Given the description of an element on the screen output the (x, y) to click on. 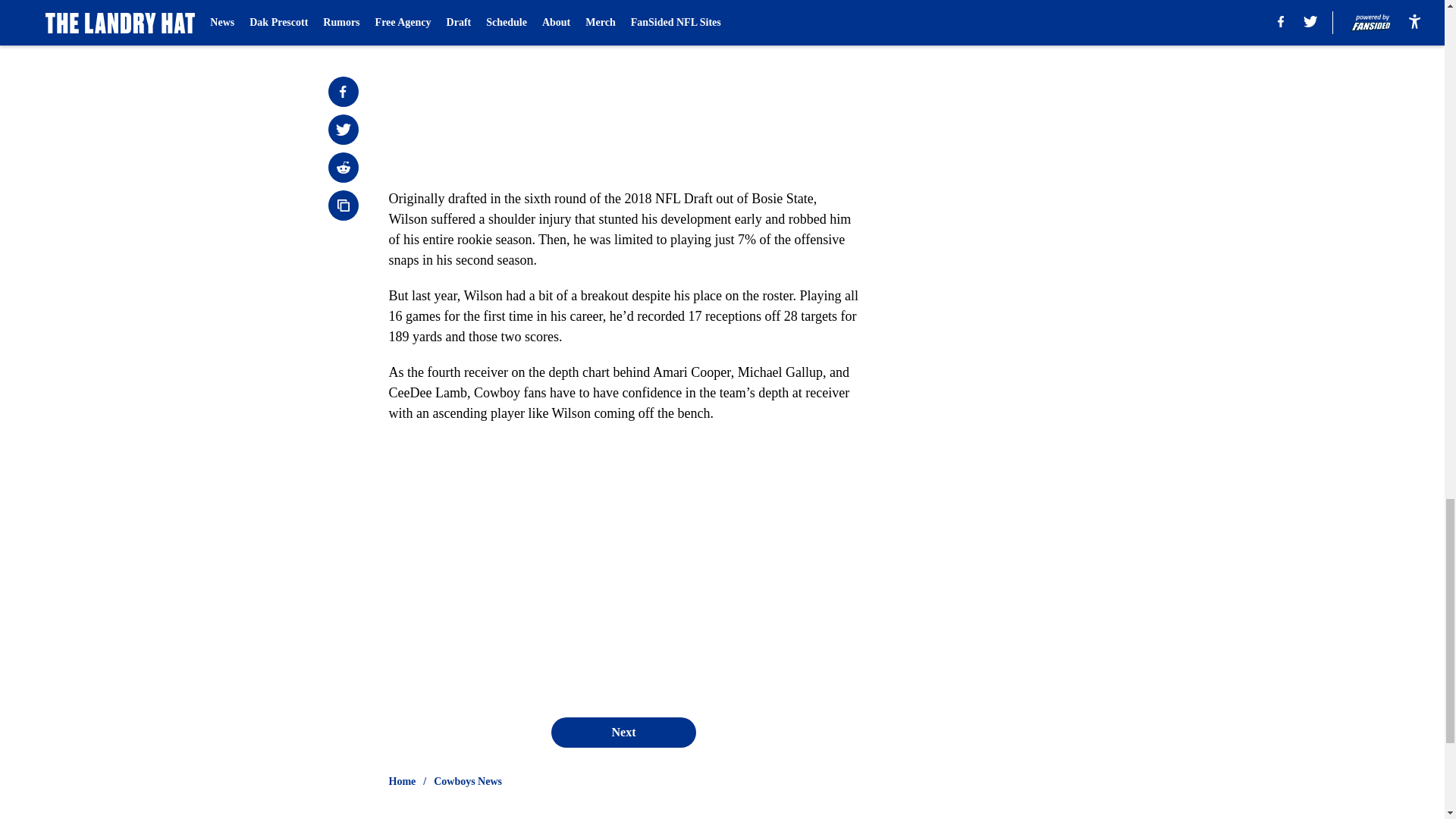
Home (401, 781)
Next (622, 732)
Cowboys News (467, 781)
